Given the description of an element on the screen output the (x, y) to click on. 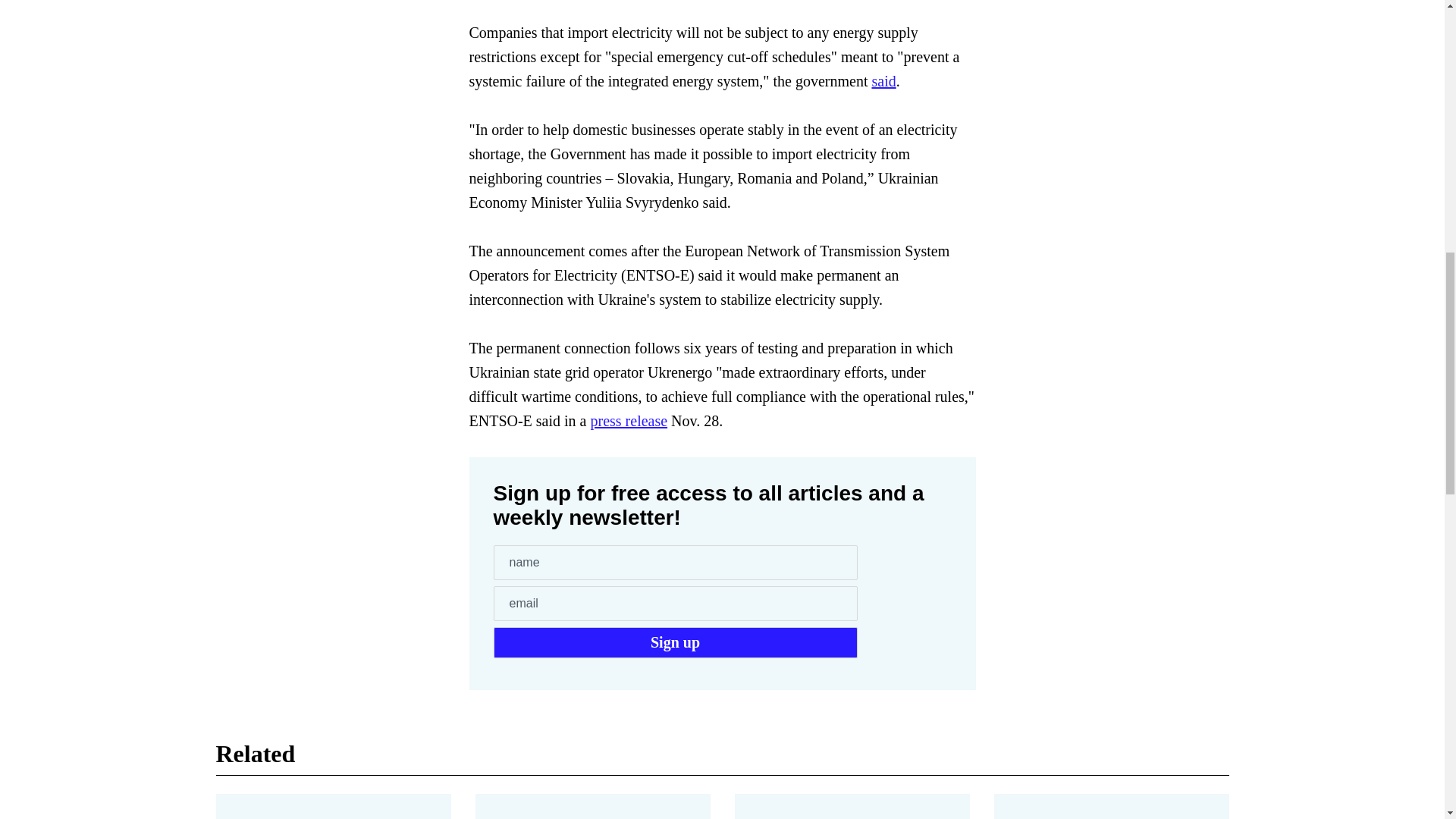
said (882, 80)
press release (627, 420)
Sign up (675, 642)
